Given the description of an element on the screen output the (x, y) to click on. 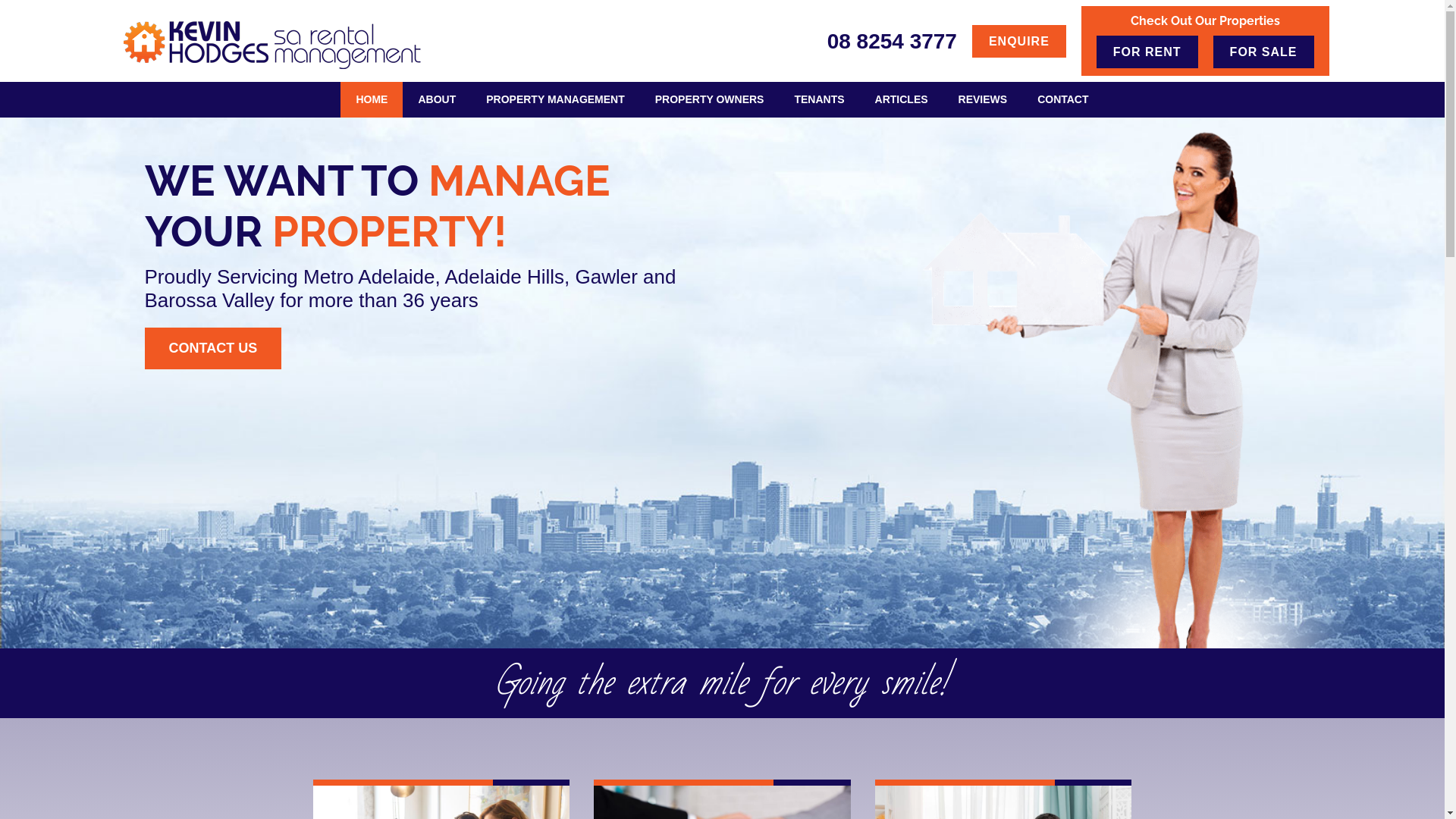
PROPERTY OWNERS Element type: text (709, 99)
CONTACT Element type: text (1062, 99)
FOR RENT Element type: text (1147, 51)
08 8254 3777 Element type: text (892, 41)
ABOUT Element type: text (436, 99)
kevin-hodges-logo Element type: hover (274, 45)
FOR SALE Element type: text (1263, 51)
ENQUIRE Element type: text (1019, 41)
ARTICLES Element type: text (901, 99)
HOME Element type: text (371, 99)
CONTACT US Element type: text (212, 348)
REVIEWS Element type: text (982, 99)
PROPERTY MANAGEMENT Element type: text (555, 99)
TENANTS Element type: text (818, 99)
